Given the description of an element on the screen output the (x, y) to click on. 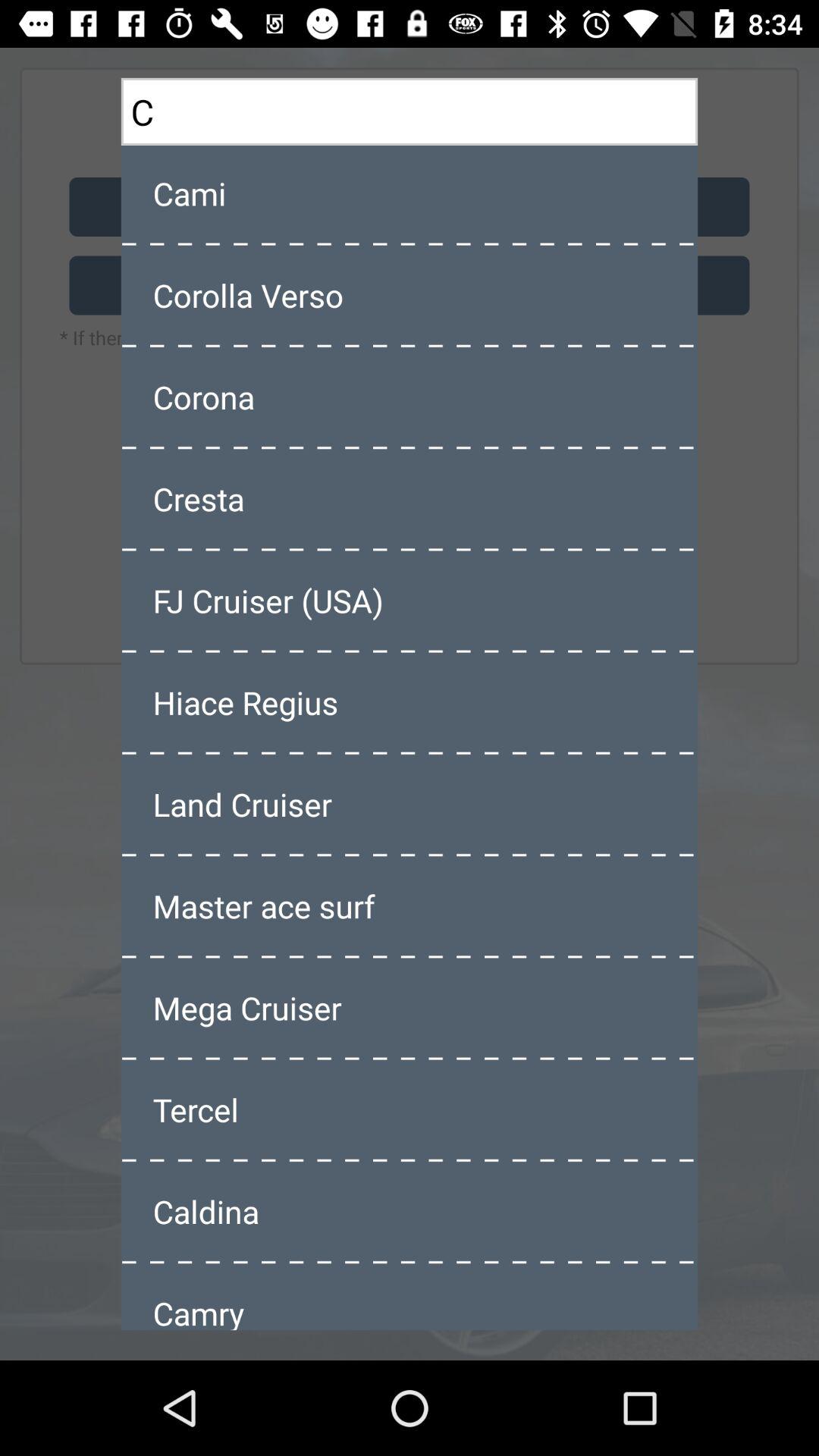
open camry item (409, 1297)
